Given the description of an element on the screen output the (x, y) to click on. 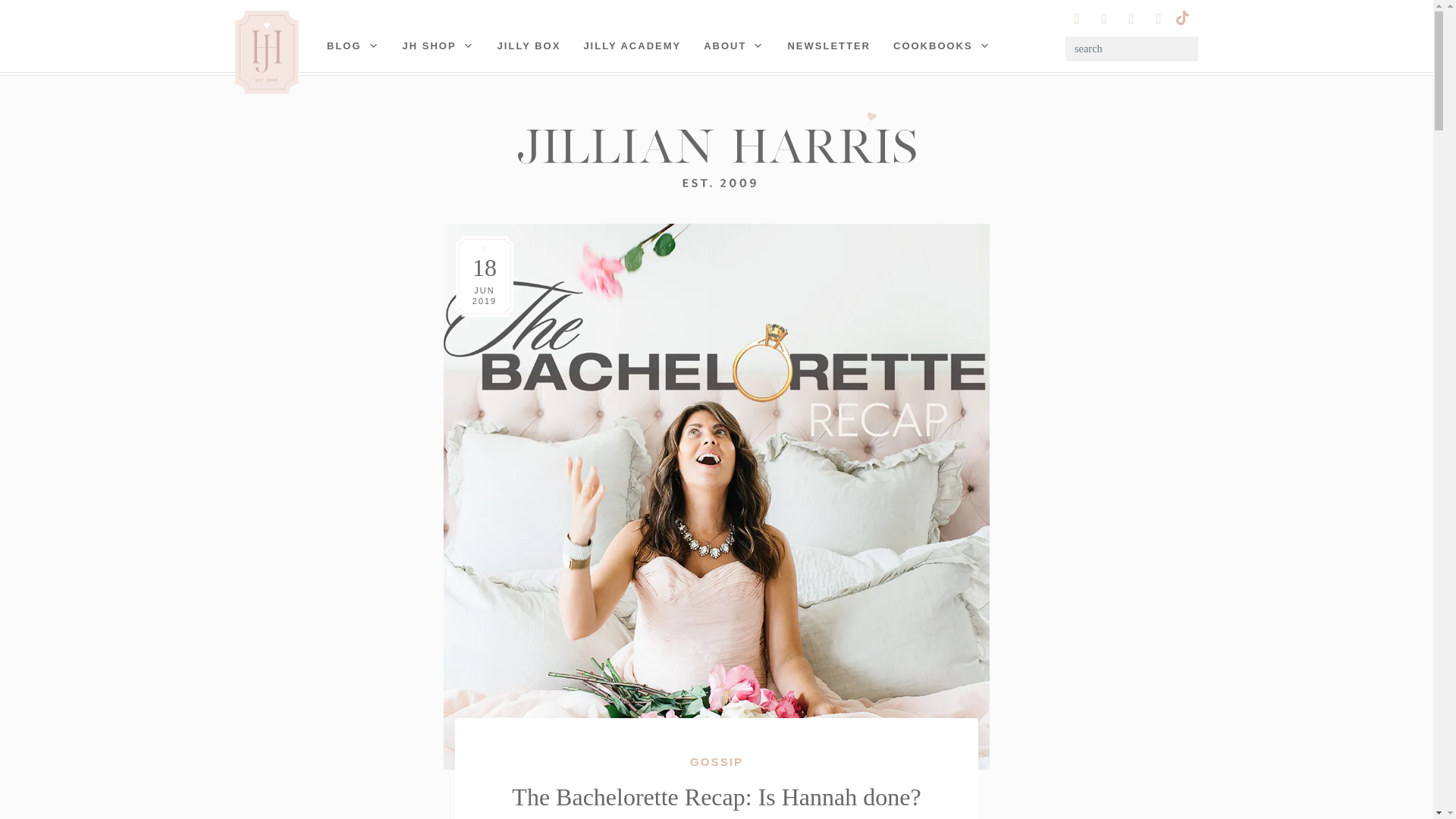
Visit our facebook account (1158, 18)
Visit our tiktok account (1181, 15)
Visit our youtube account (1130, 18)
Jillian Harris Design Inc. (716, 149)
BLOG (353, 46)
Visit our instagram account (1076, 18)
Visit our pinterest account (1104, 18)
